Given the description of an element on the screen output the (x, y) to click on. 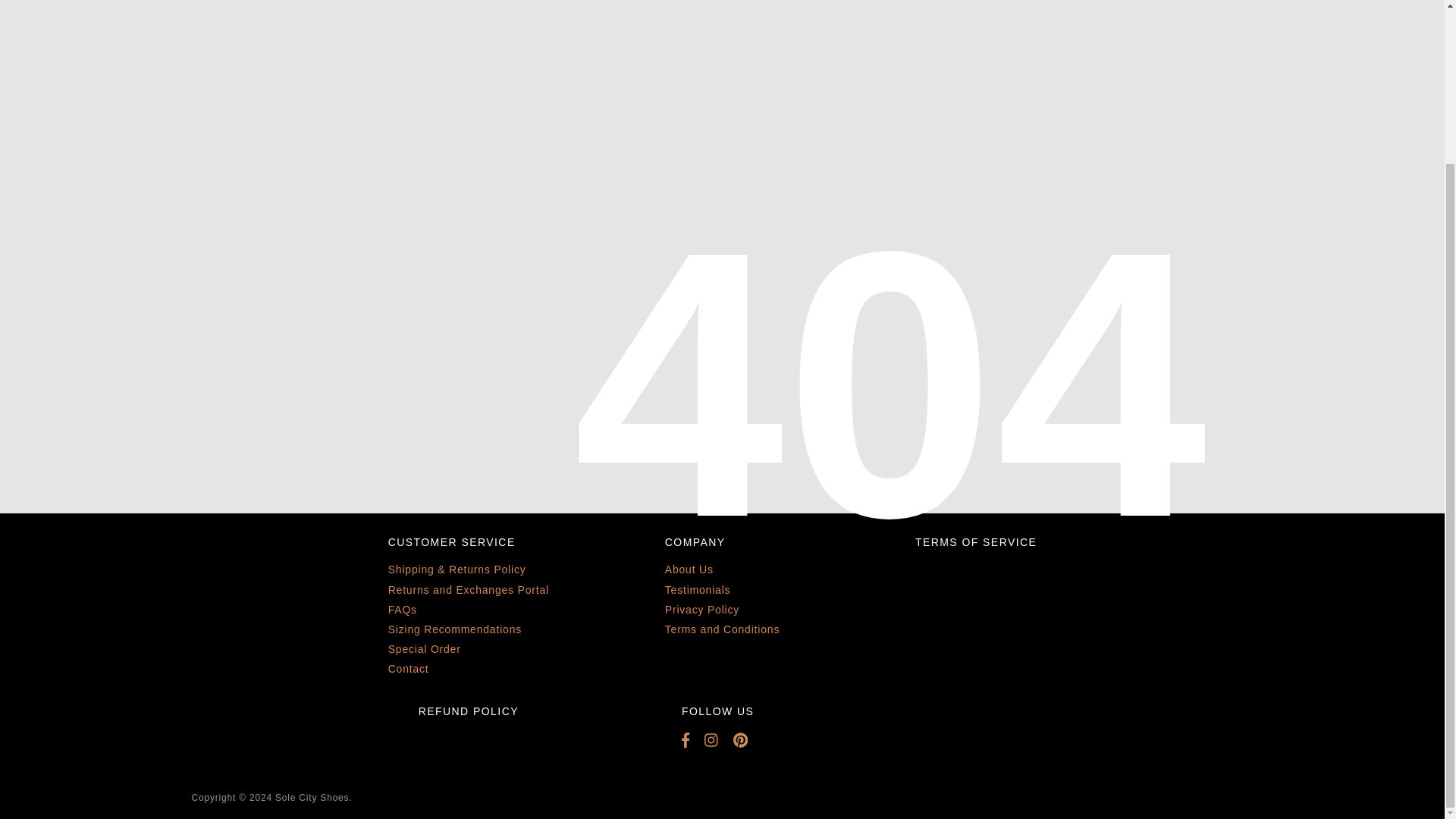
Sole City Shoes on Instagram (718, 739)
Sole City Shoes on Pinterest (747, 739)
Sole City Shoes on Facebook (692, 739)
